Given the description of an element on the screen output the (x, y) to click on. 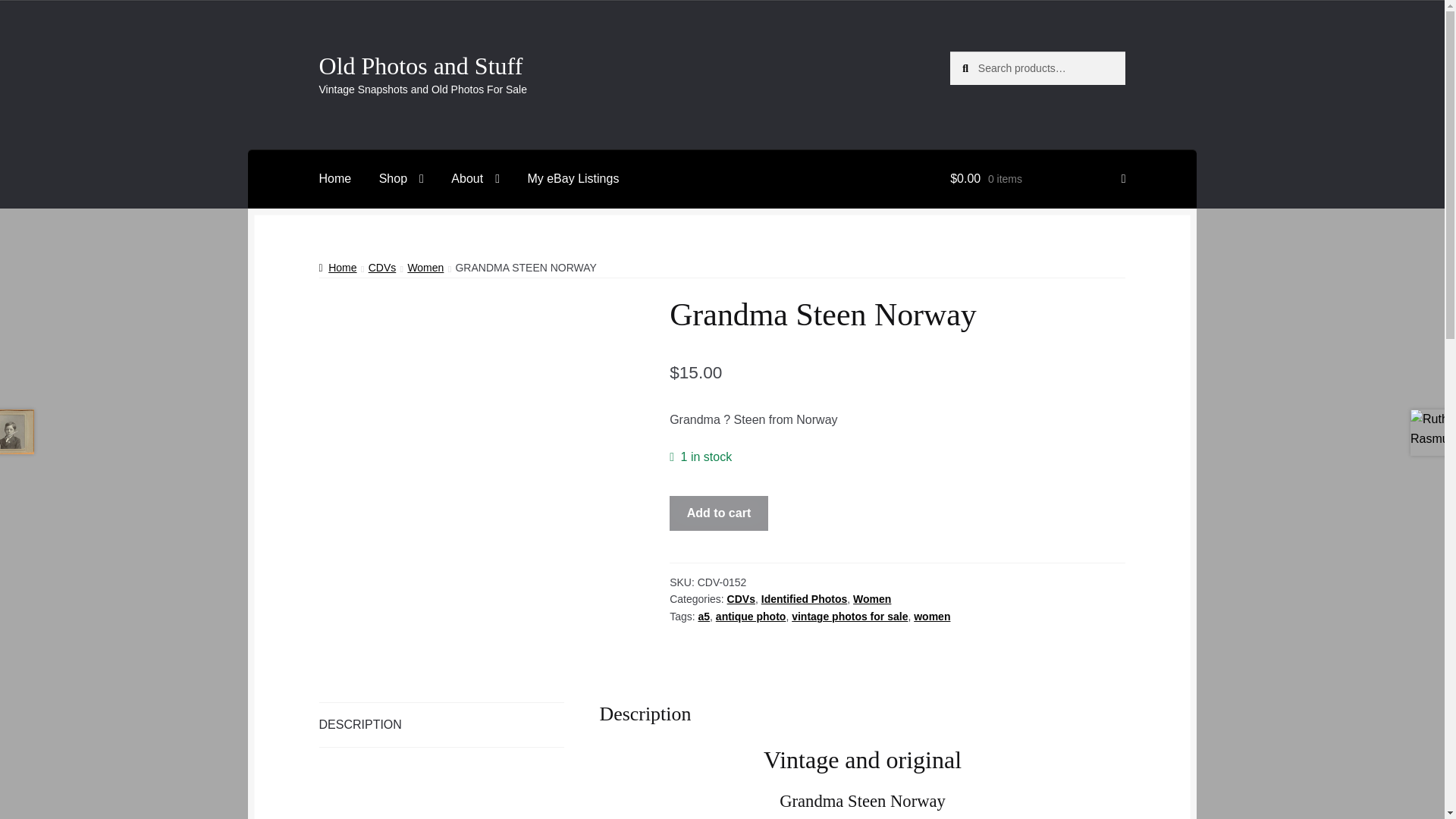
My eBay Listings (572, 178)
View your shopping cart (1037, 178)
Home (335, 178)
About (475, 178)
Shop (400, 178)
Old Photos and Stuff (420, 65)
